Given the description of an element on the screen output the (x, y) to click on. 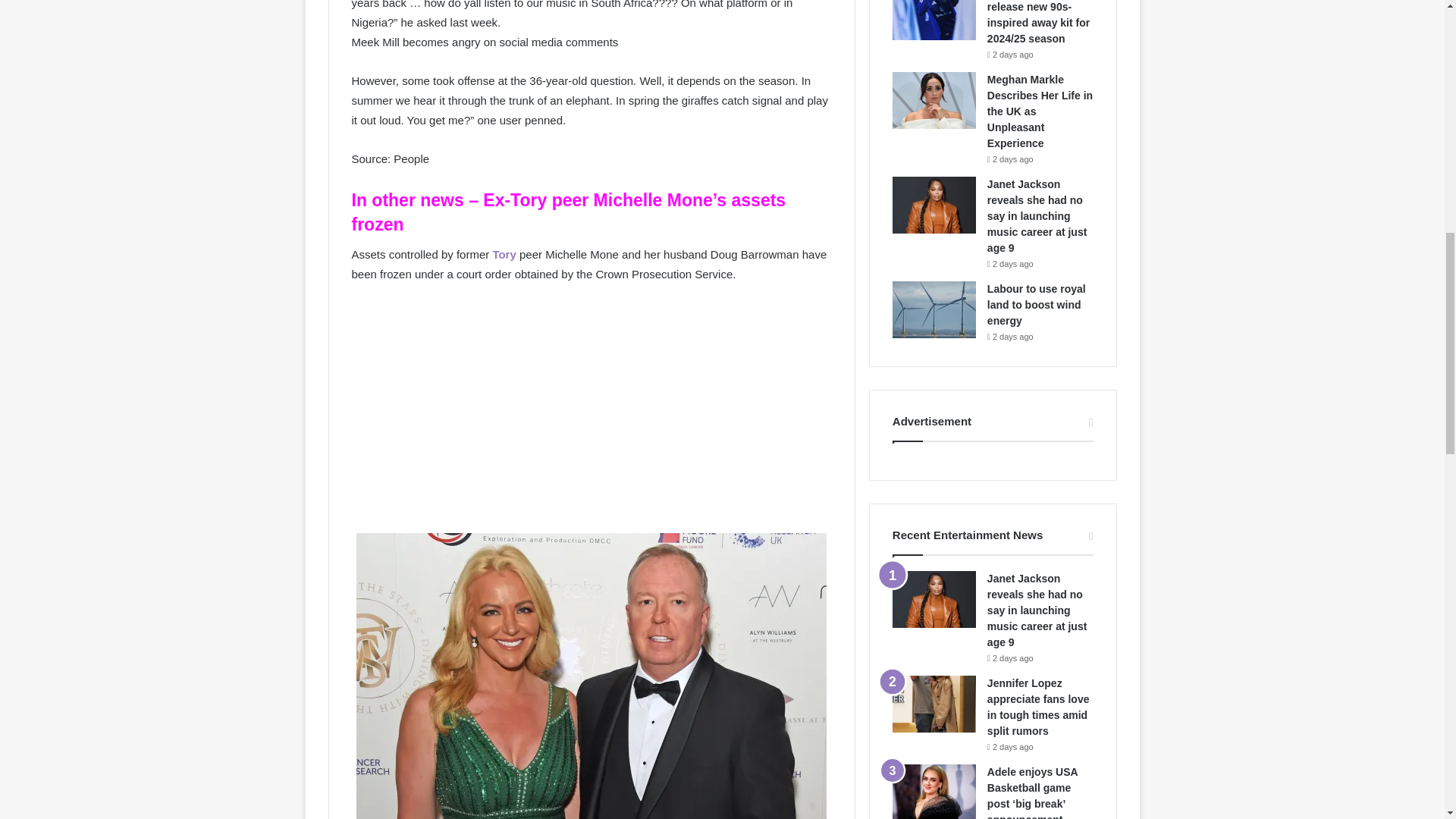
Tory (503, 254)
